Given the description of an element on the screen output the (x, y) to click on. 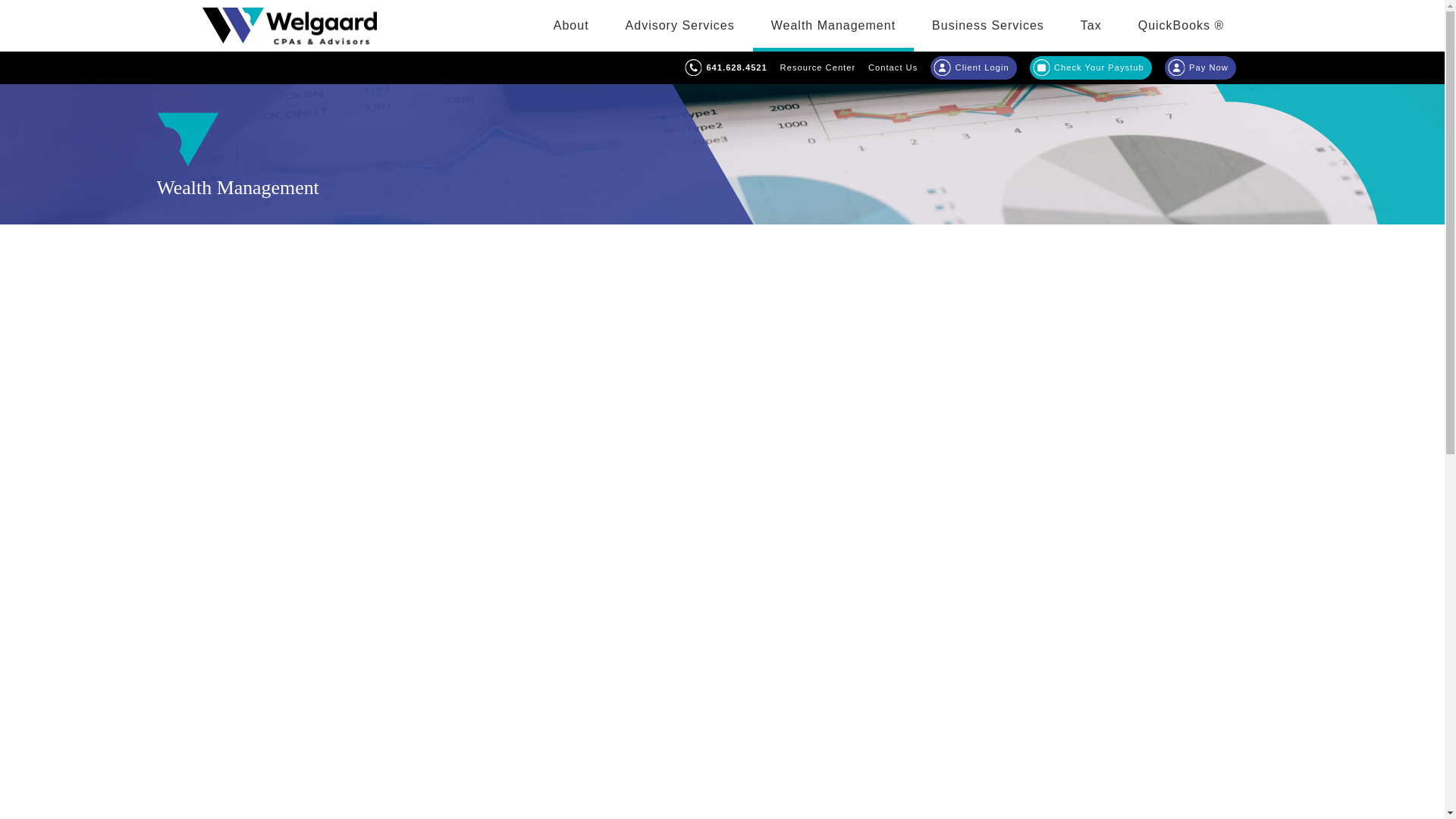
Business Services (988, 25)
Welgaard (289, 24)
Client Login (972, 67)
Wealth Management (832, 25)
About (571, 25)
Advisory Services (679, 25)
